Given the description of an element on the screen output the (x, y) to click on. 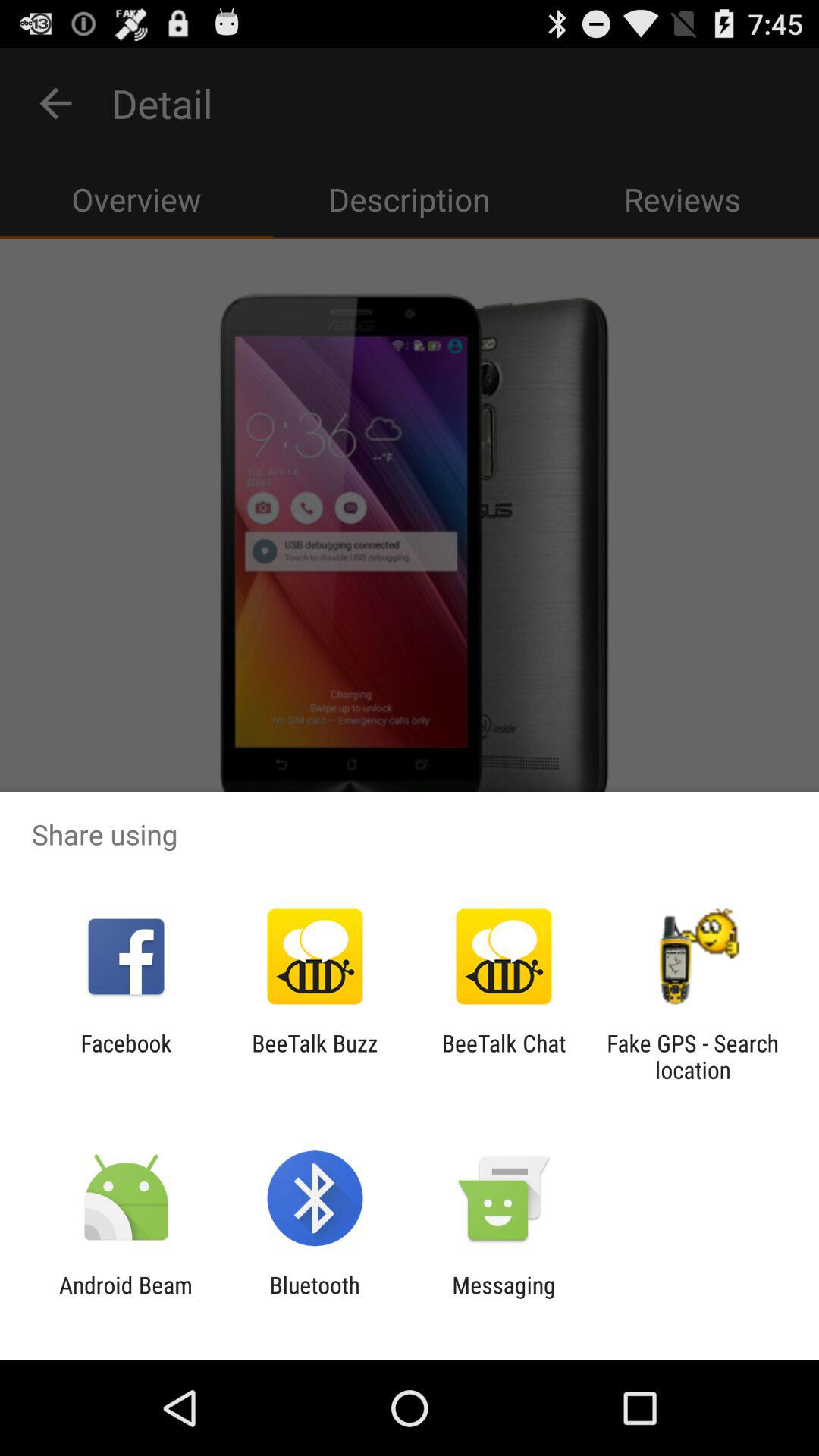
scroll to messaging app (503, 1298)
